Given the description of an element on the screen output the (x, y) to click on. 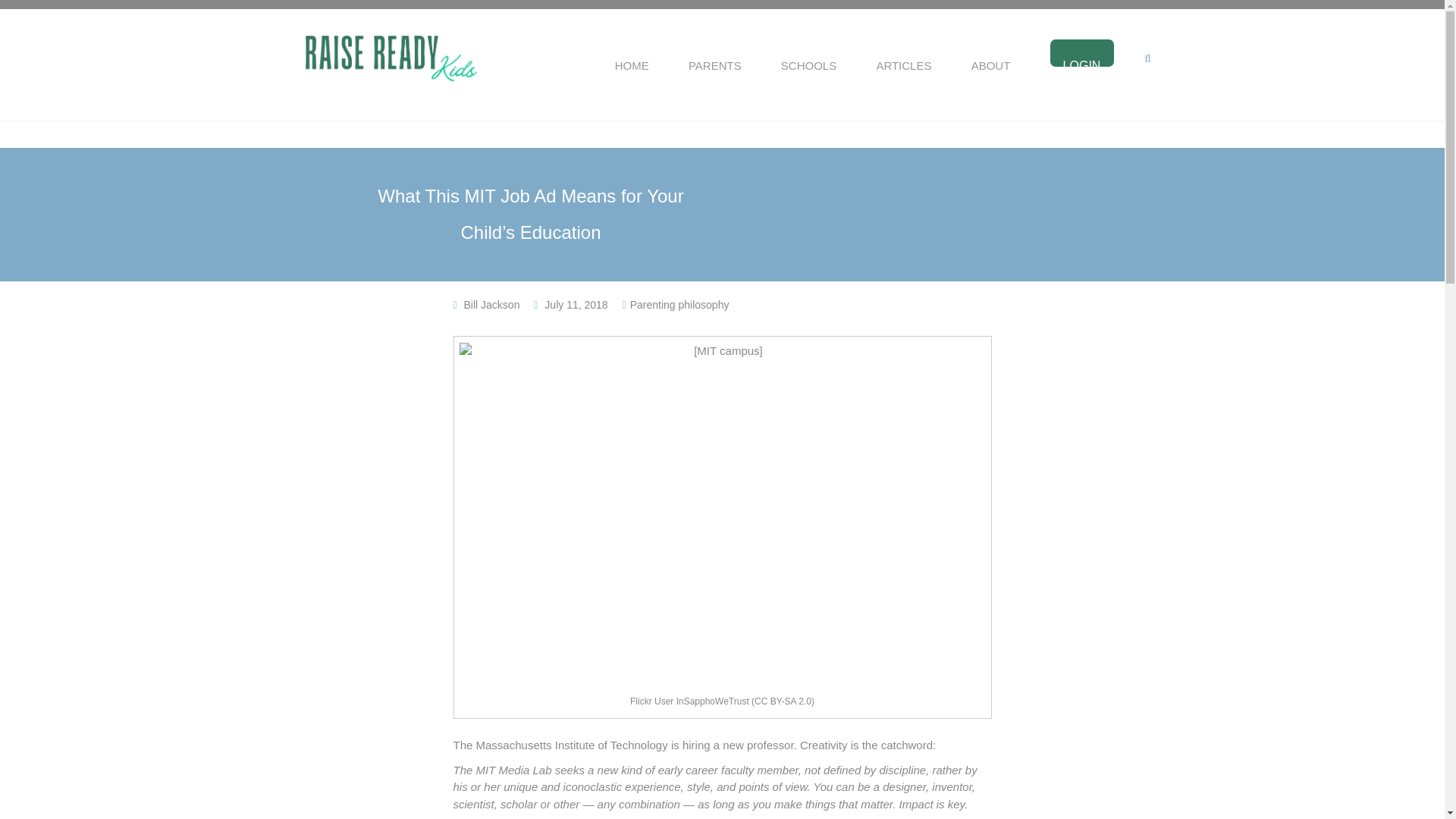
Bill Jackson (491, 304)
July 11, 2018 (575, 304)
LOGIN (1081, 62)
SCHOOLS (807, 62)
PARENTS (714, 62)
ARTICLES (903, 62)
Parenting philosophy (679, 304)
4:49 pm (575, 304)
